Given the description of an element on the screen output the (x, y) to click on. 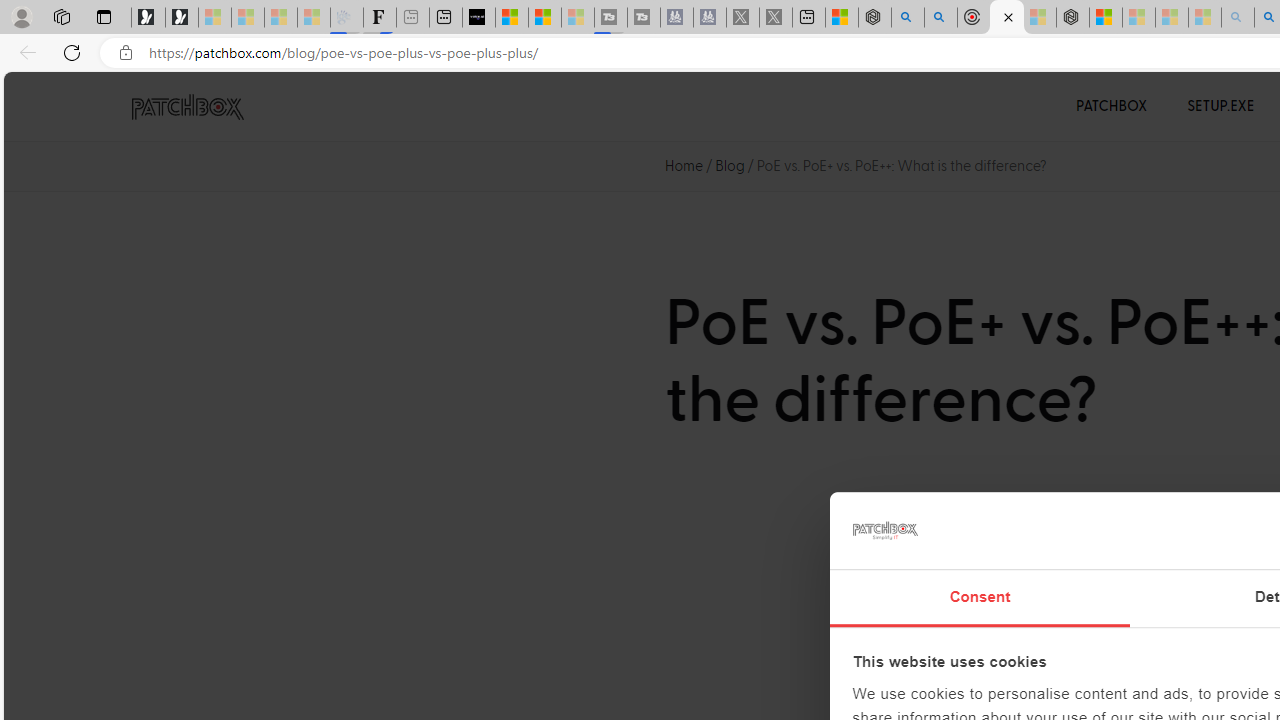
Blog (729, 165)
PATCHBOX Simplify IT (200, 106)
